Given the description of an element on the screen output the (x, y) to click on. 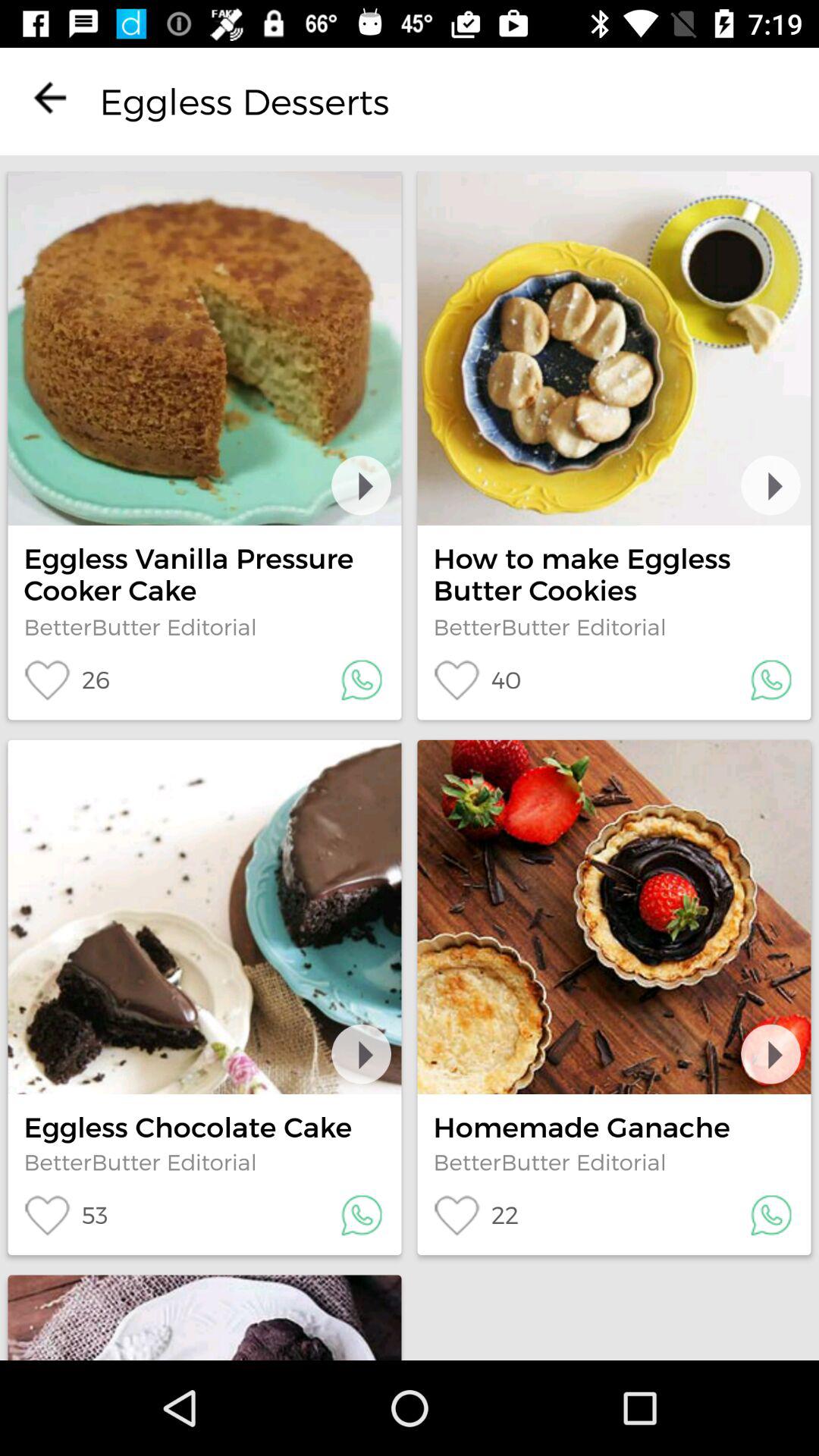
choose 22 icon (475, 1215)
